Given the description of an element on the screen output the (x, y) to click on. 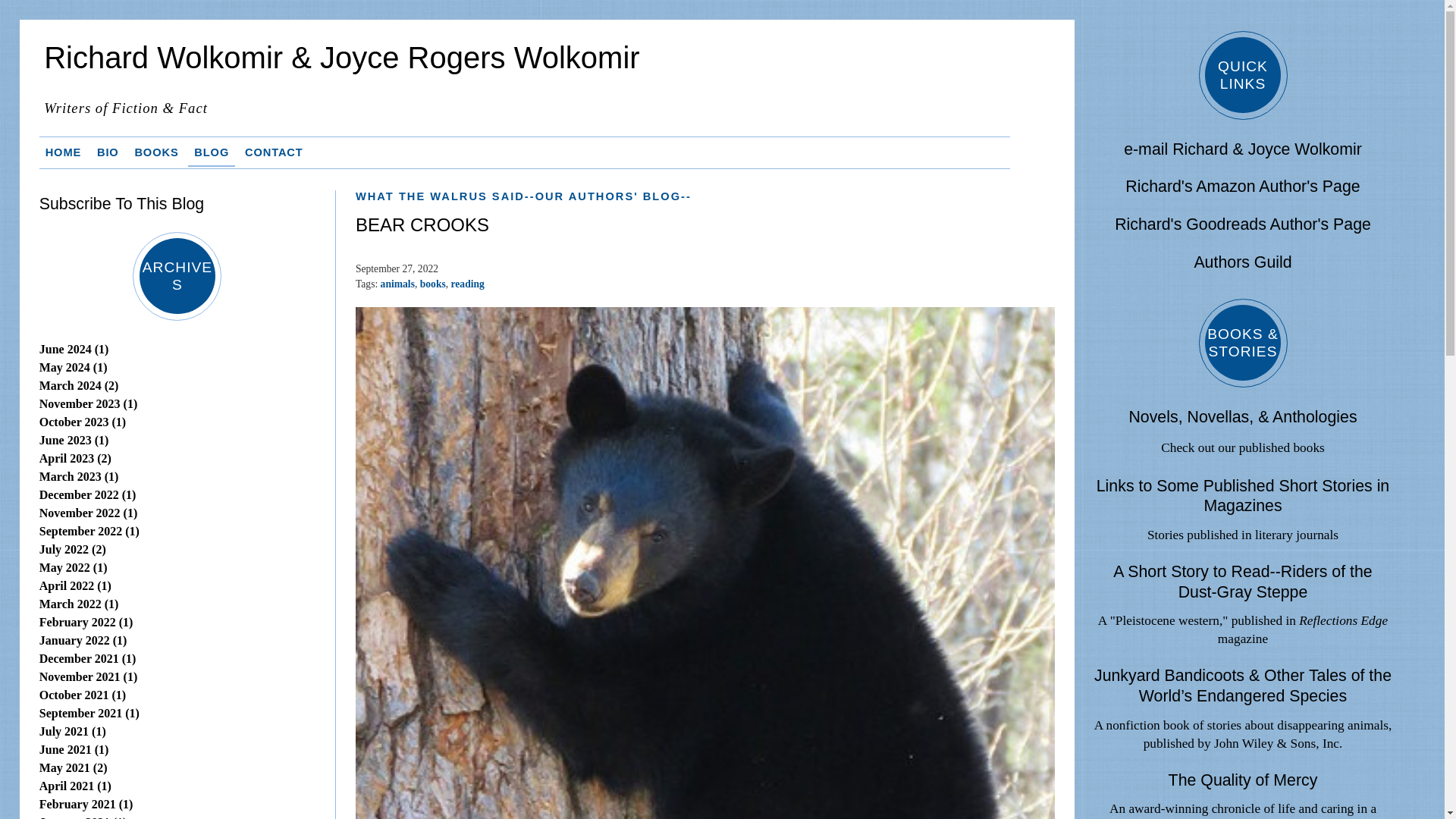
BLOG (210, 152)
Subscribe To This Blog (121, 203)
BIO (107, 152)
BOOKS (156, 152)
CONTACT (273, 152)
HOME (63, 152)
